Given the description of an element on the screen output the (x, y) to click on. 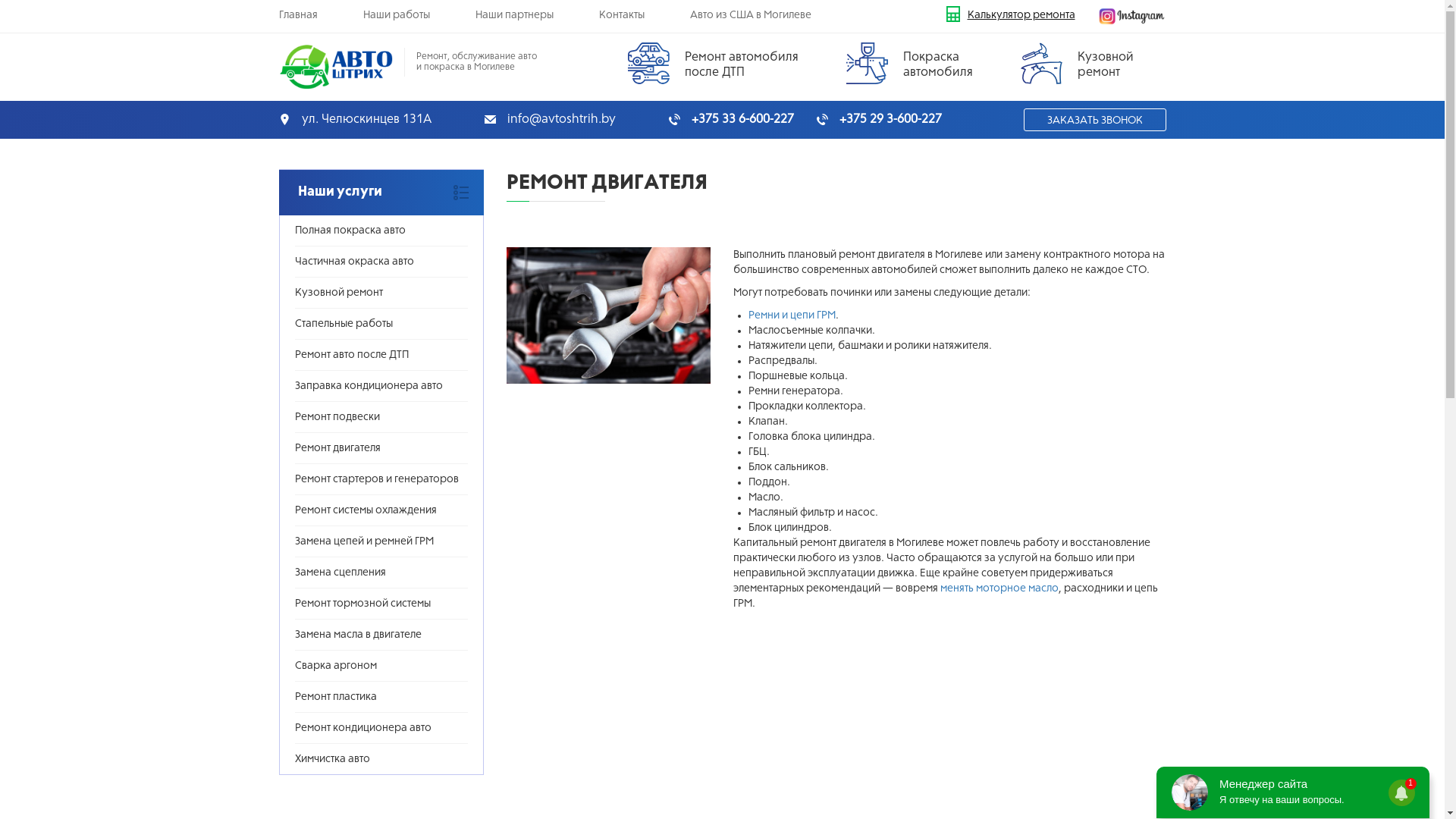
+375 33 6-600-227 Element type: text (730, 119)
info@avtoshtrih.by Element type: text (549, 119)
+375 29 3-600-227 Element type: text (878, 119)
